Given the description of an element on the screen output the (x, y) to click on. 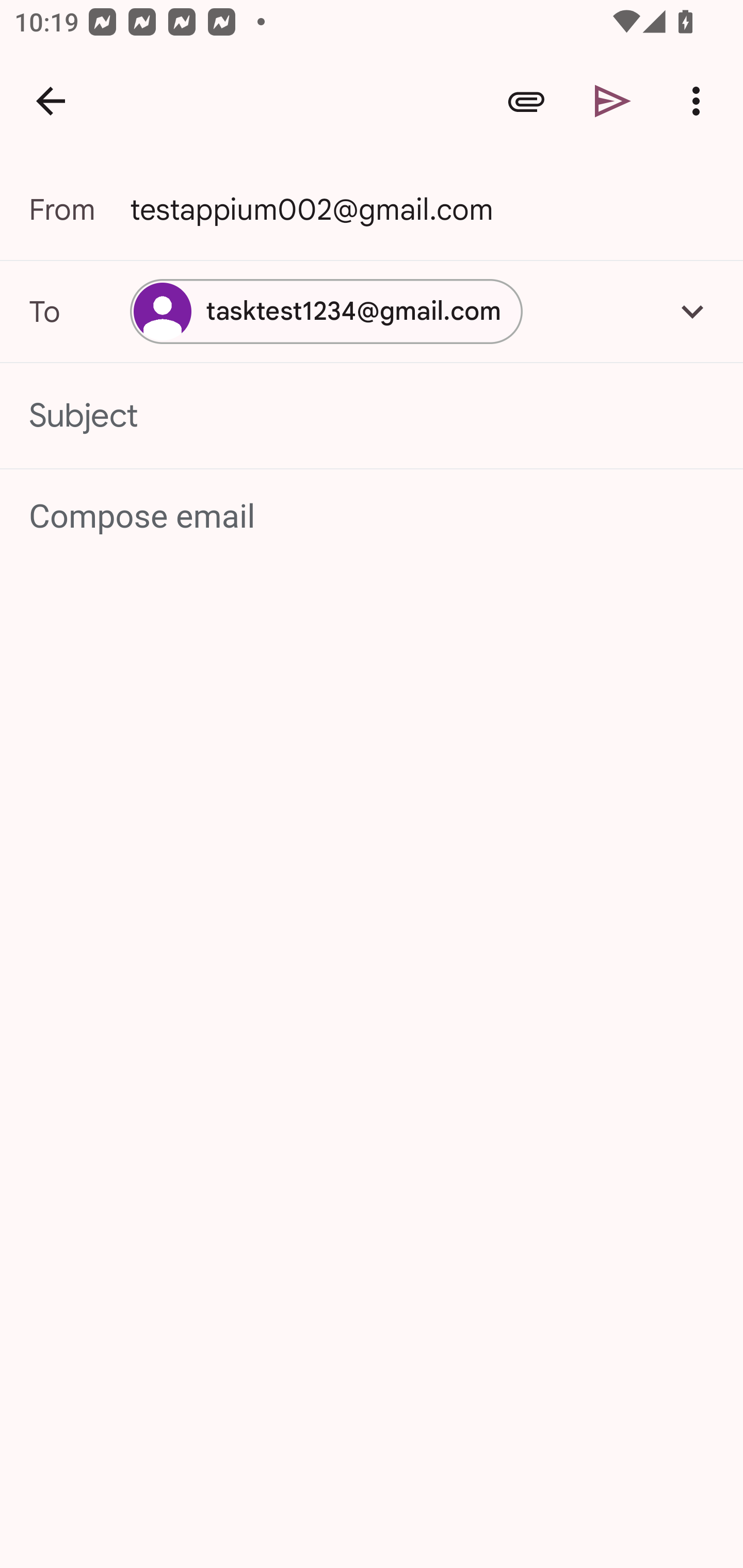
Navigate up (50, 101)
Attach file (525, 101)
Send (612, 101)
More options (699, 101)
From (79, 209)
Add Cc/Bcc (692, 311)
Subject (371, 415)
Compose email (372, 517)
